Given the description of an element on the screen output the (x, y) to click on. 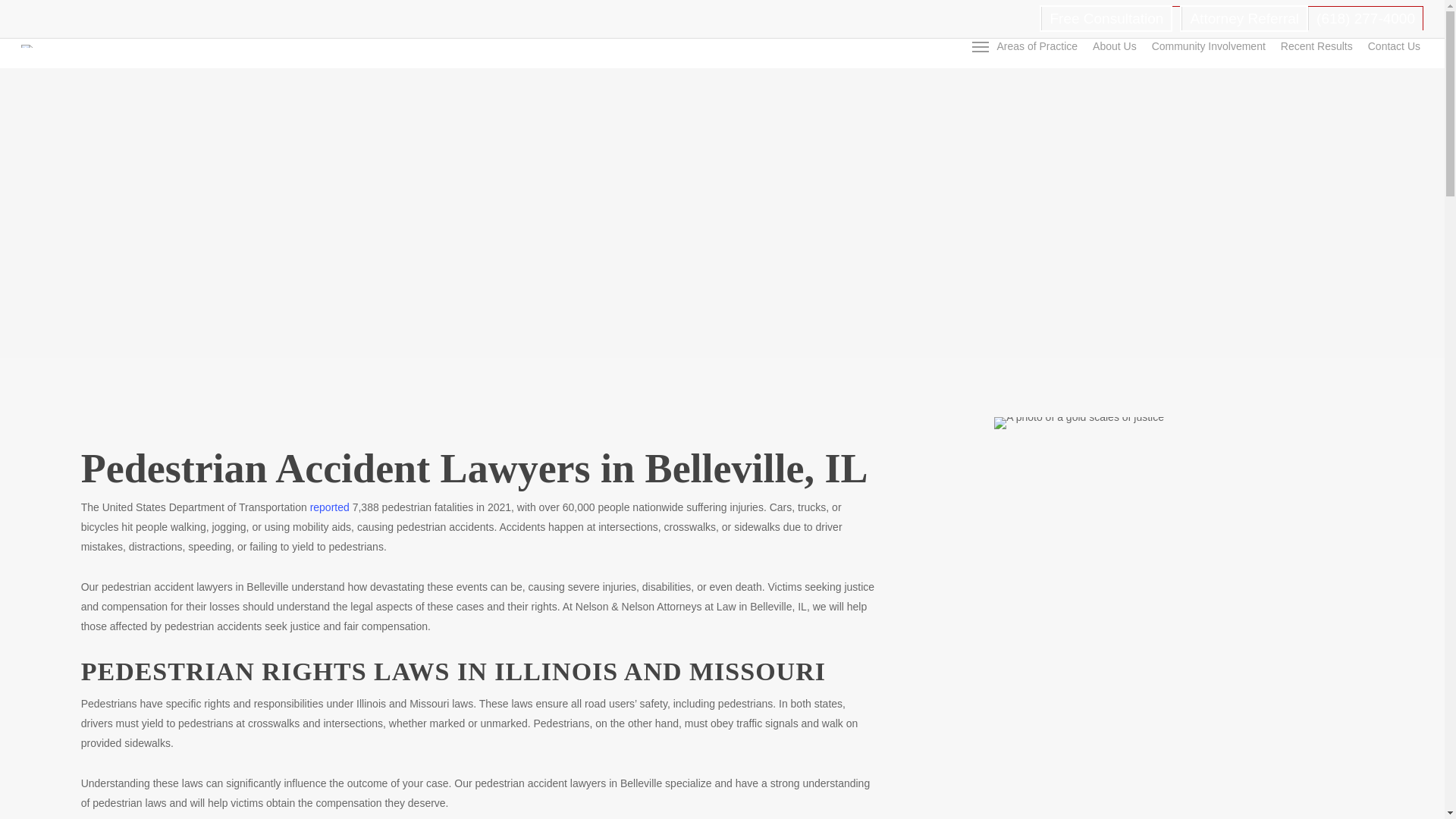
About Us (1115, 46)
Attorney Referral (1243, 18)
Areas of Practice (1036, 46)
Free Consultation (1105, 18)
Menu (980, 46)
